Given the description of an element on the screen output the (x, y) to click on. 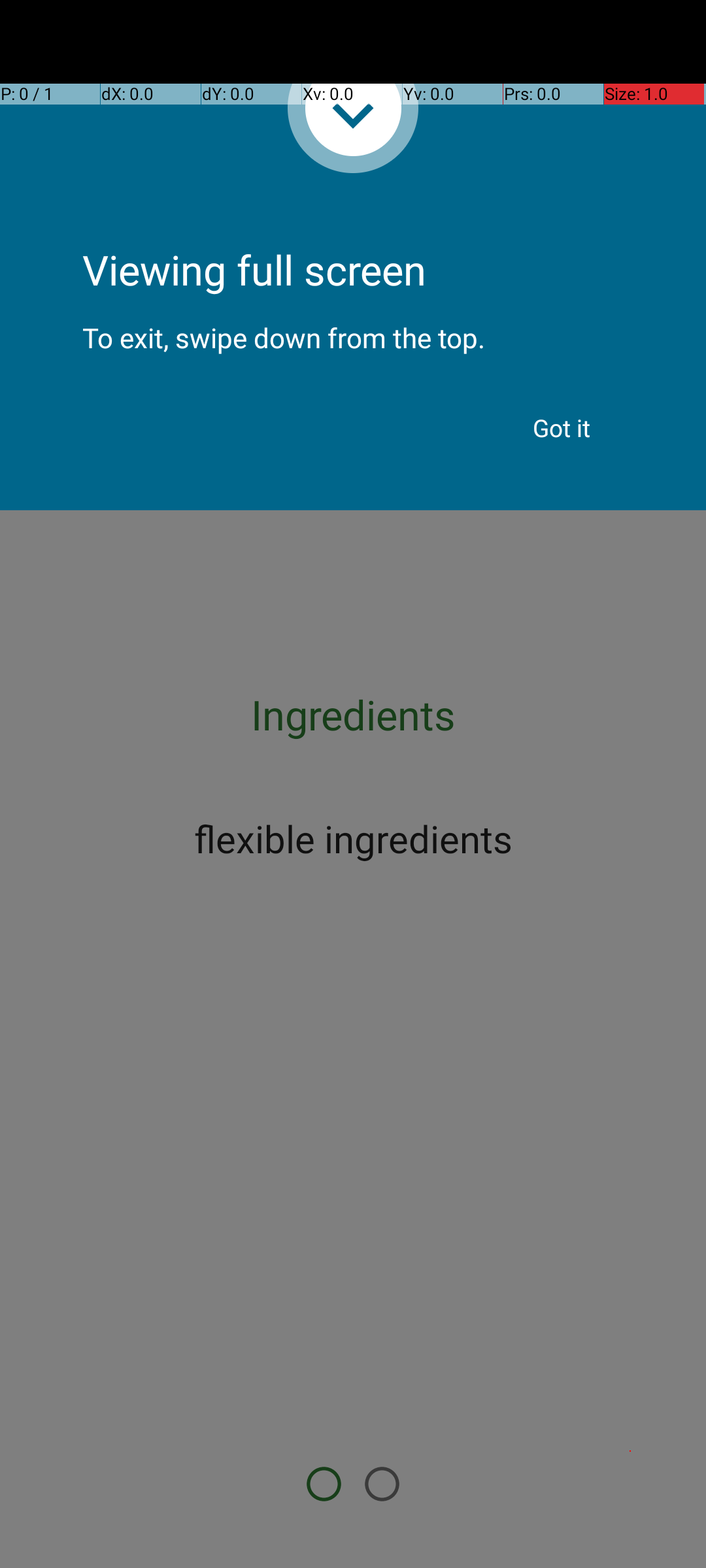
Viewing full screen Element type: android.widget.TextView (353, 235)
To exit, swipe down from the top. Element type: android.widget.TextView (353, 326)
Got it Element type: android.widget.Button (561, 427)
